Given the description of an element on the screen output the (x, y) to click on. 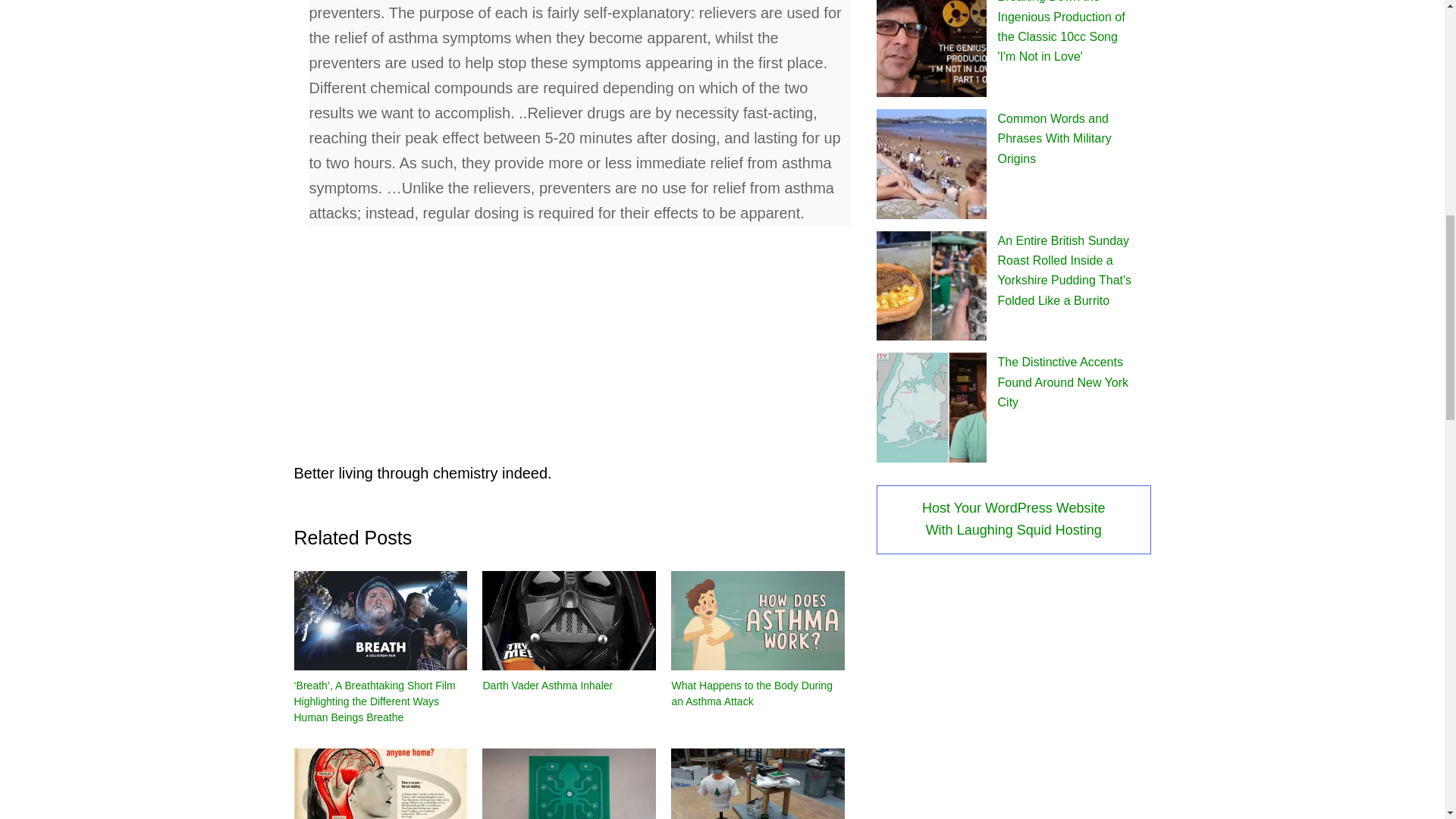
An Infographic About Infographics (568, 783)
What Happens to the Body During an Asthma Attack (751, 693)
What Happens to the Body During an Asthma Attack (757, 620)
Darth Vader Asthma Inhaler (546, 685)
Darth Vader Asthma Inhaler (568, 620)
Darth Vader Asthma Inhaler (546, 685)
What Happens to the Body During an Asthma Attack (751, 693)
